Given the description of an element on the screen output the (x, y) to click on. 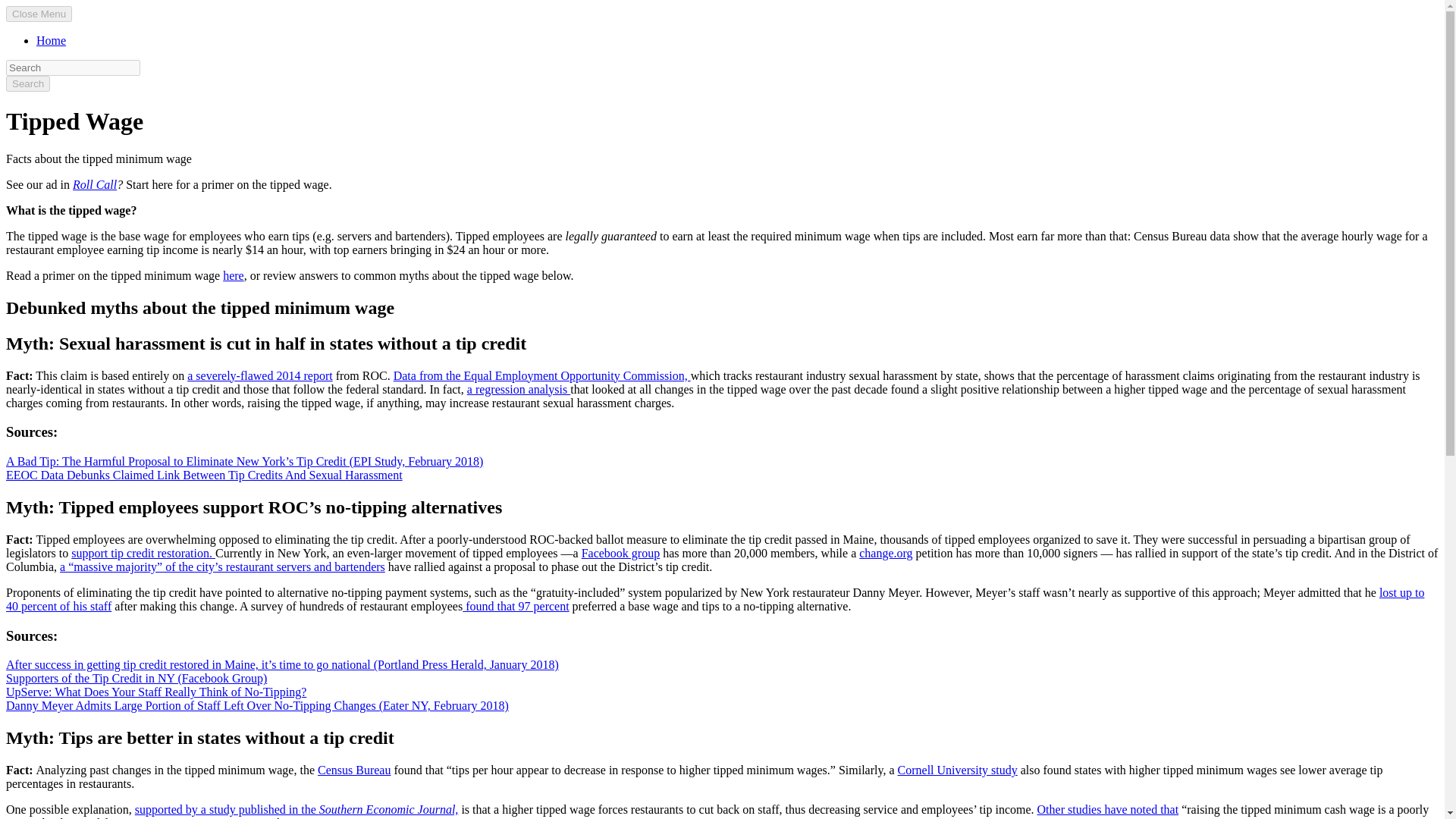
Census Bureau (353, 769)
Search (27, 83)
Cornell University study (957, 769)
lost up to 40 percent of his staff (714, 599)
here (233, 275)
Close Menu (38, 13)
change.org (885, 553)
Home (50, 40)
